Given the description of an element on the screen output the (x, y) to click on. 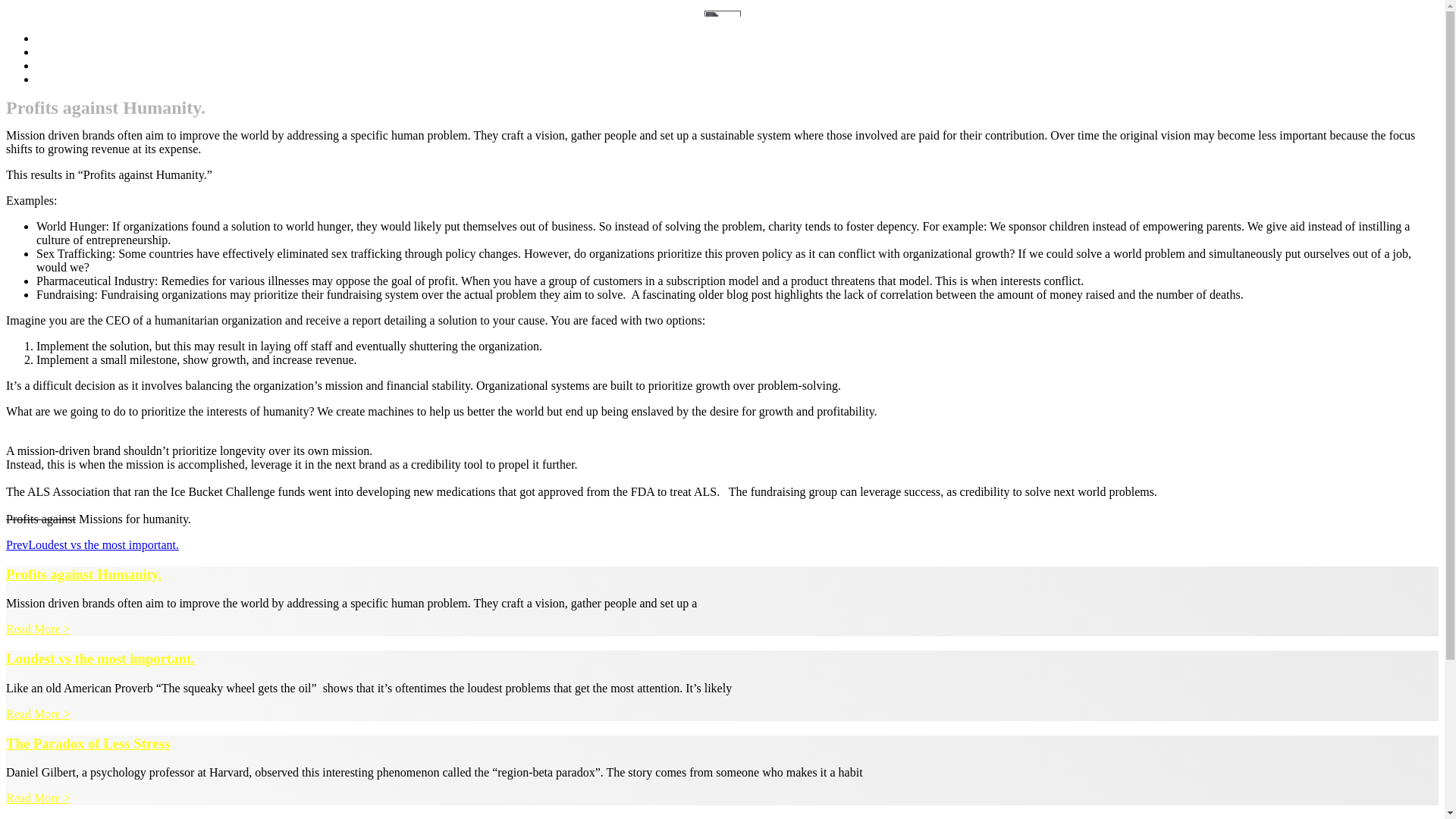
Profits against Humanity. (83, 574)
PrevLoudest vs the most important. (92, 544)
Loudest vs the most important. (100, 658)
The Paradox of Less Stress (87, 743)
